Given the description of an element on the screen output the (x, y) to click on. 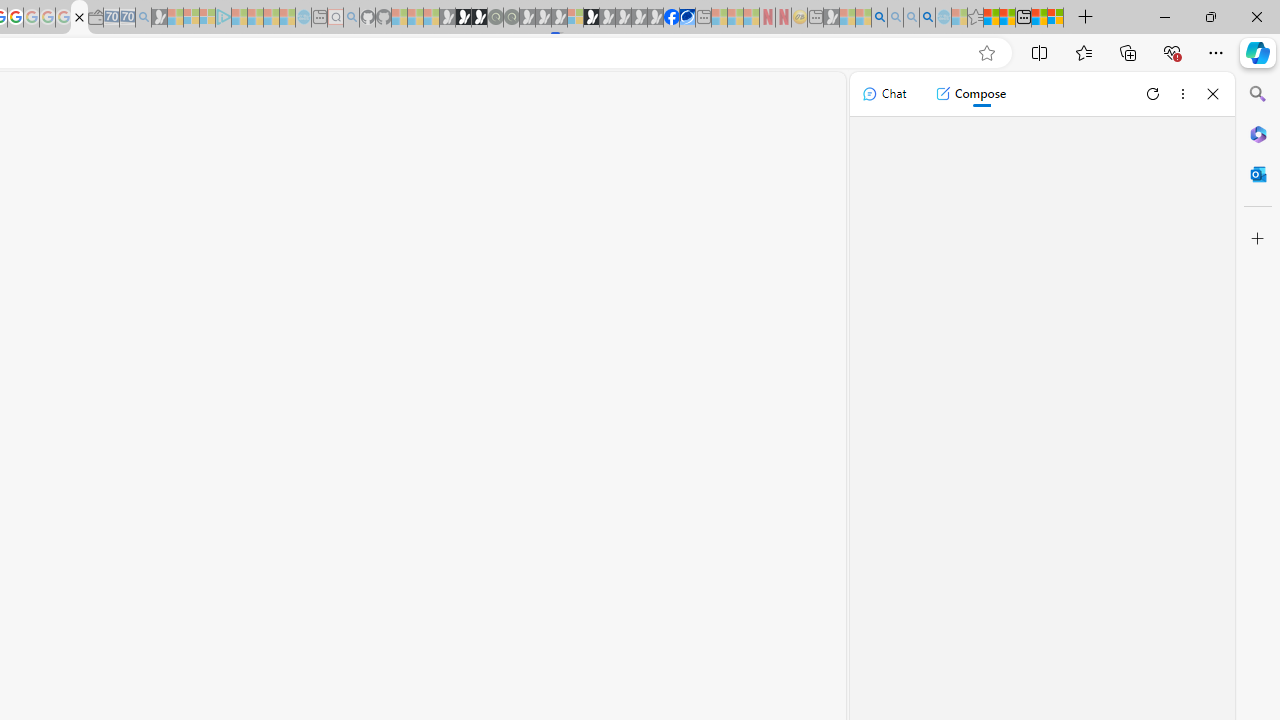
Aberdeen, Hong Kong SAR weather forecast | Microsoft Weather (1007, 17)
